Given the description of an element on the screen output the (x, y) to click on. 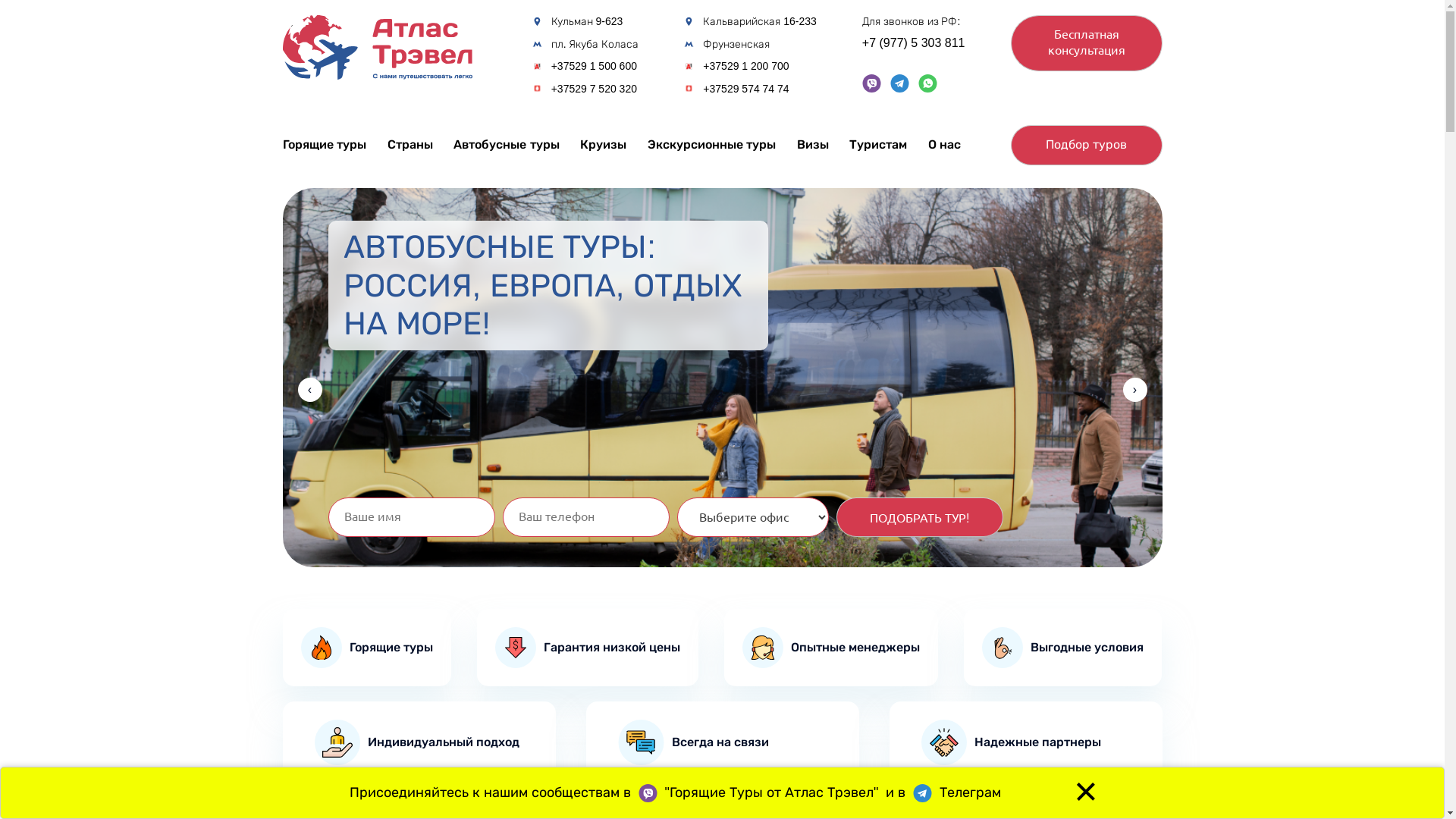
+37529 7 520 320 Element type: text (594, 88)
+37529 1 200 700 Element type: text (745, 65)
+7 (977) 5 303 811 Element type: text (913, 43)
+37529 574 74 74 Element type: text (745, 88)
+37529 1 500 600 Element type: text (594, 65)
